Given the description of an element on the screen output the (x, y) to click on. 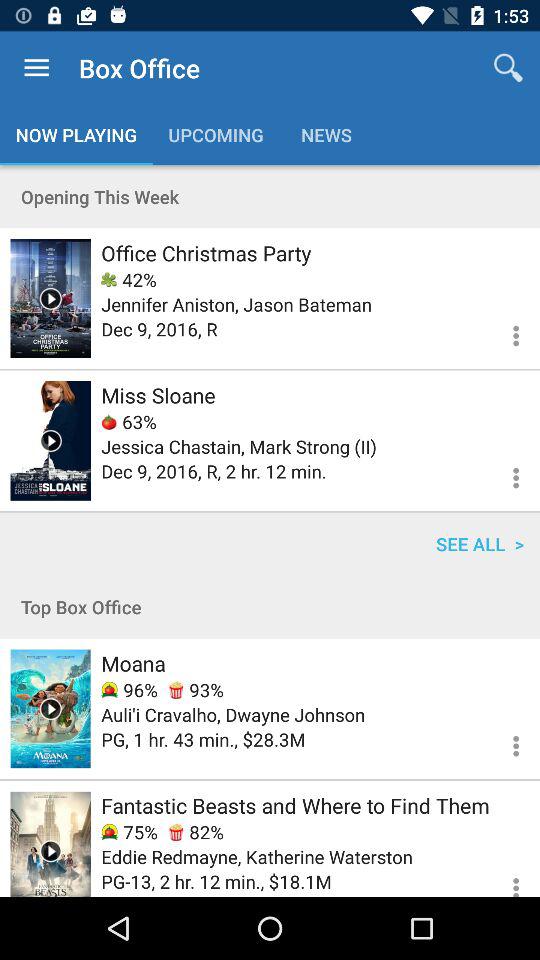
press the item above the now playing icon (36, 68)
